Given the description of an element on the screen output the (x, y) to click on. 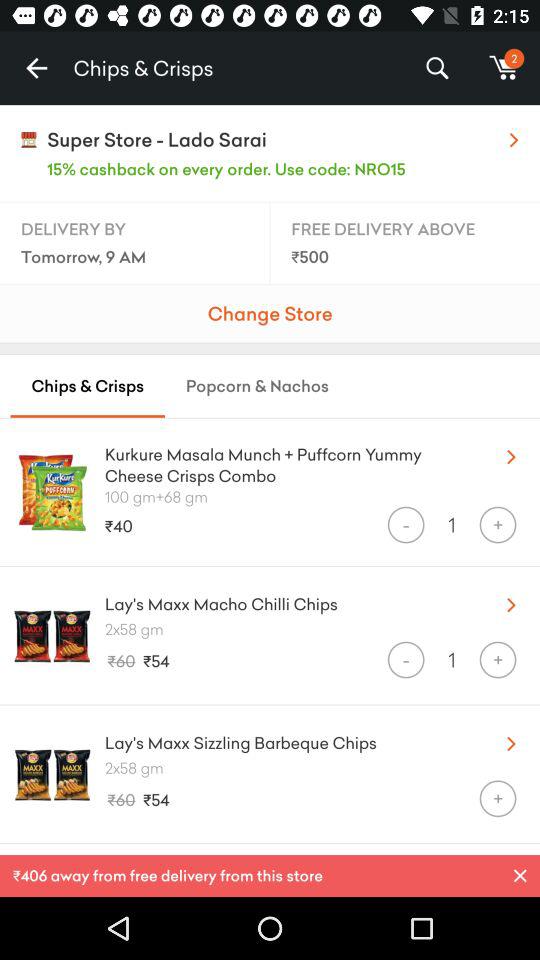
turn on item to the left of the m icon (436, 67)
